Given the description of an element on the screen output the (x, y) to click on. 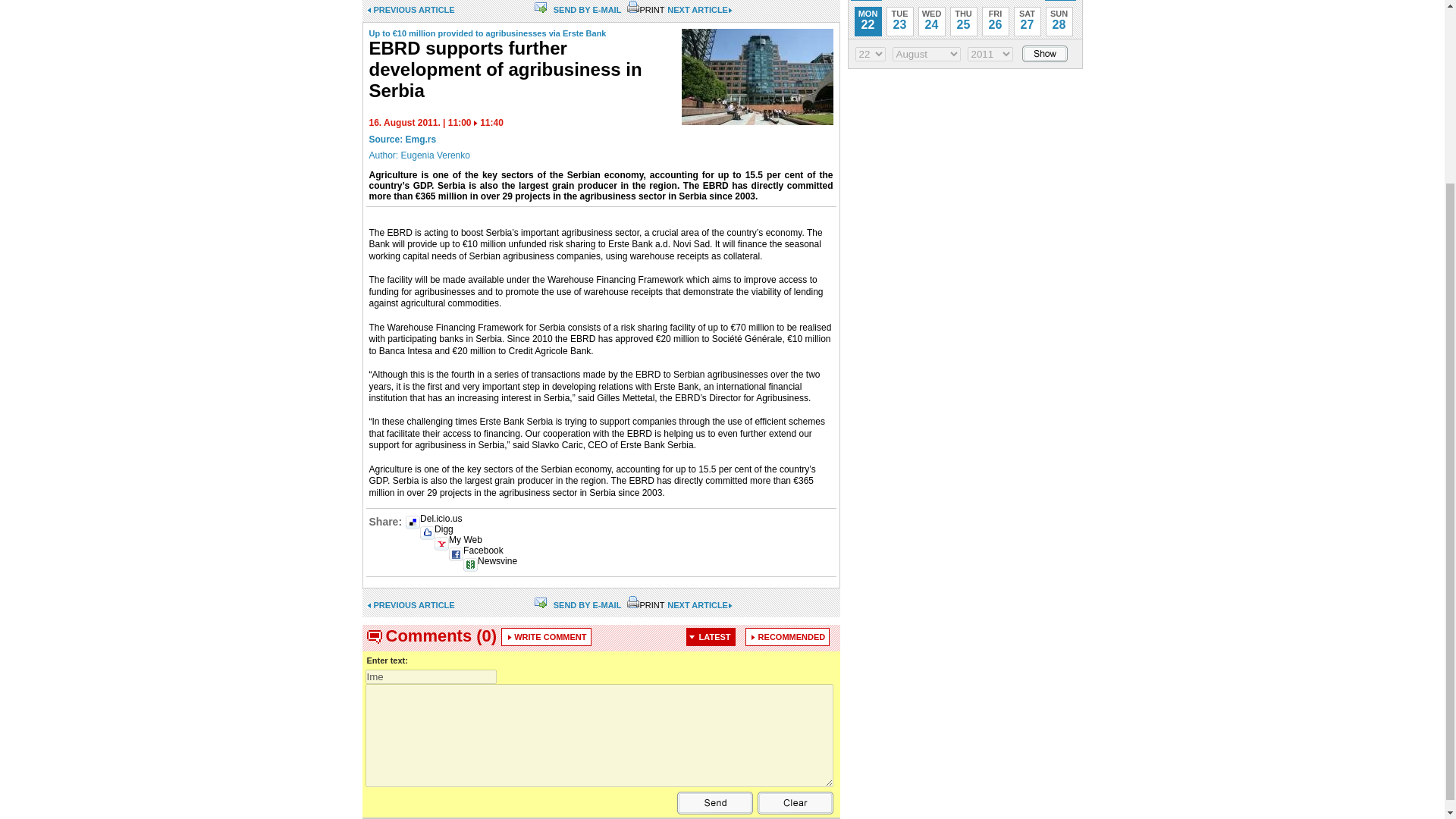
Ime (430, 676)
